Given the description of an element on the screen output the (x, y) to click on. 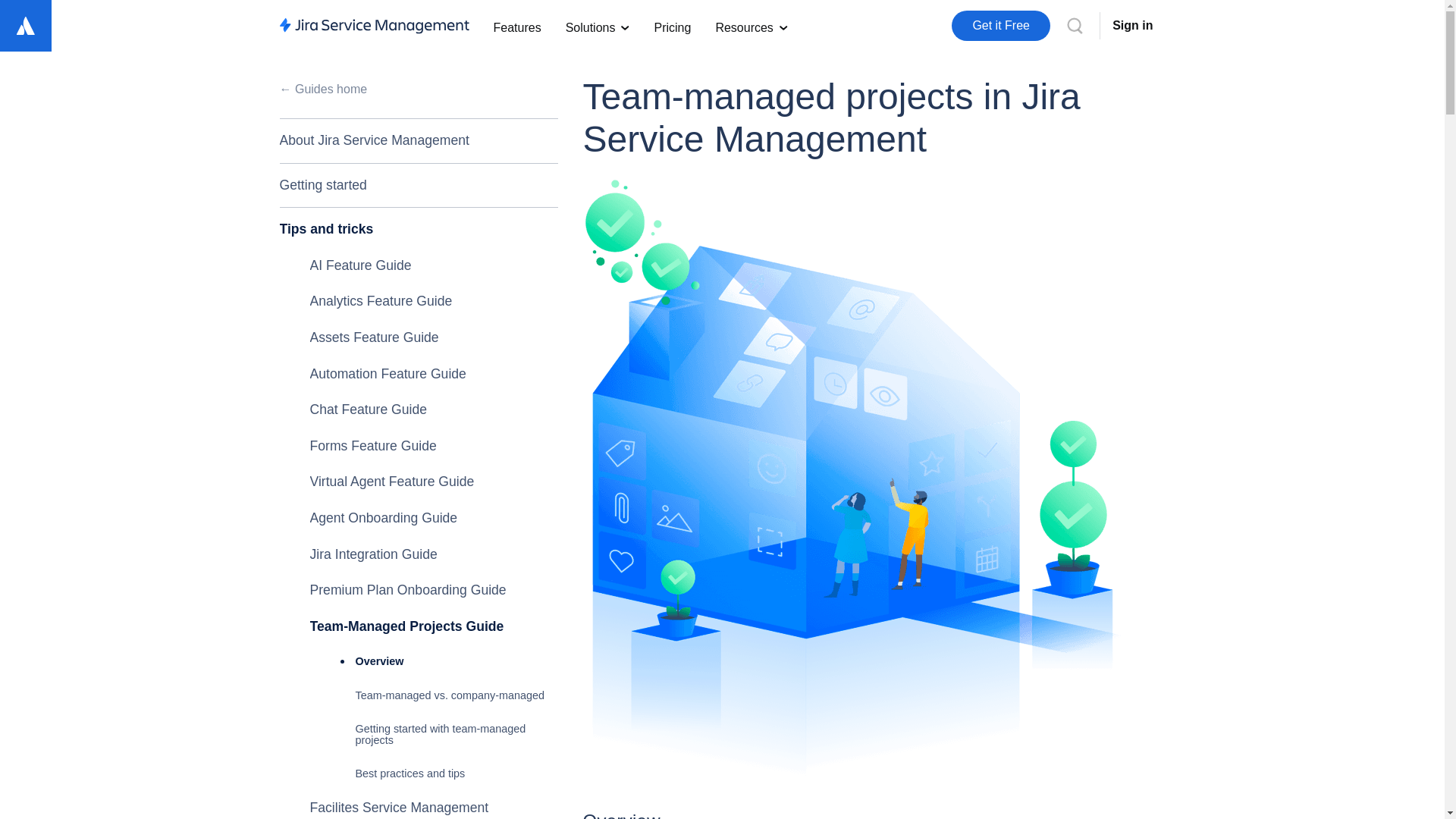
Features (516, 25)
Pricing (672, 25)
Resources (751, 25)
Solutions (597, 25)
